Given the description of an element on the screen output the (x, y) to click on. 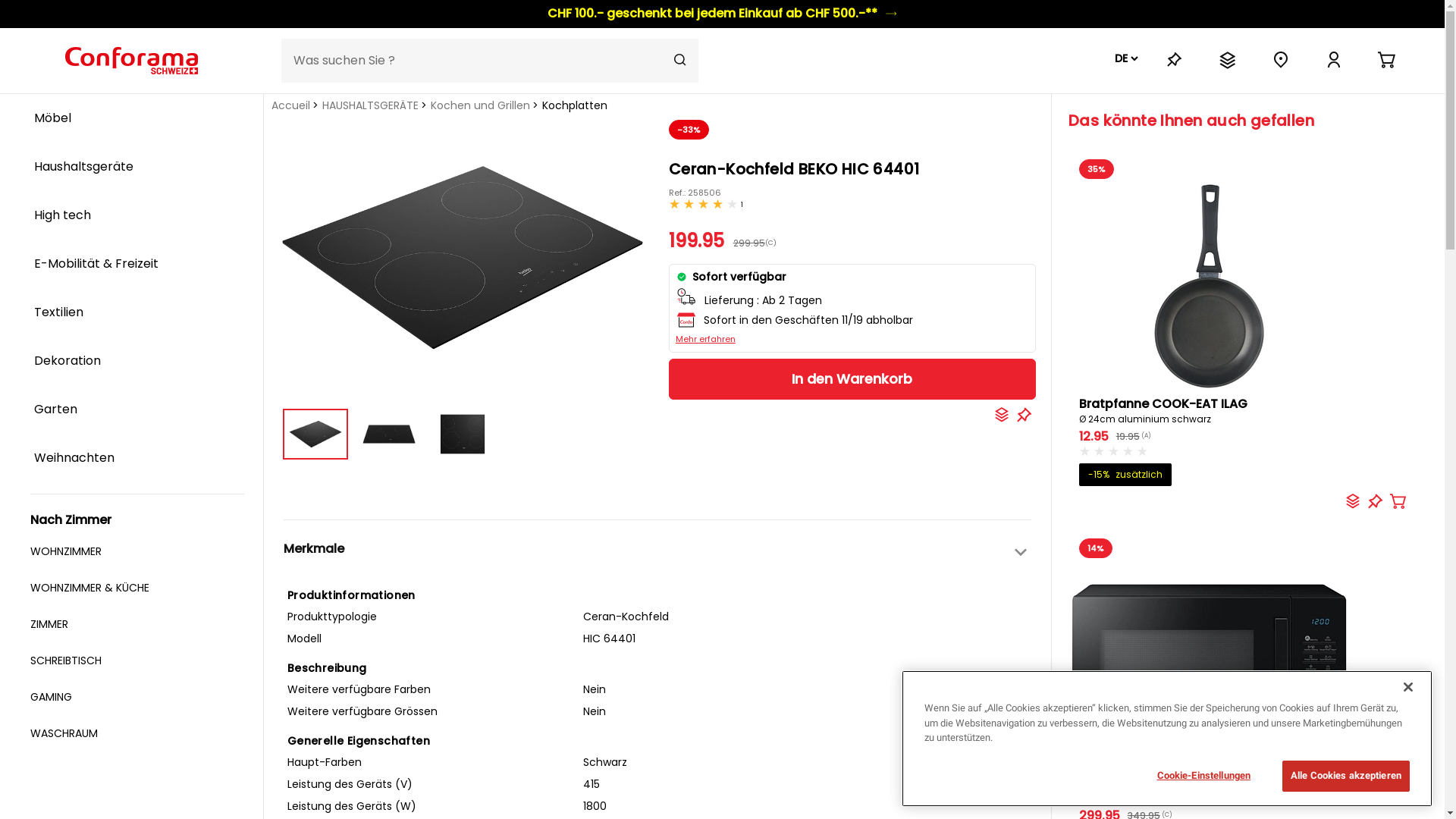
WOHNZIMMER Element type: text (137, 551)
CHF 100.- geschenkt bei jedem Einkauf ab CHF 500.-** Element type: text (722, 14)
ZIMMER Element type: text (137, 624)
In den Warenkorb Element type: text (851, 378)
Cookie-Einstellungen Element type: text (1203, 774)
Alle Cookies akzeptieren Element type: text (1345, 775)
WASCHRAUM Element type: text (137, 733)
Mehr erfahren Element type: text (705, 338)
GAMING Element type: text (137, 697)
SCHREIBTISCH Element type: text (137, 661)
